Given the description of an element on the screen output the (x, y) to click on. 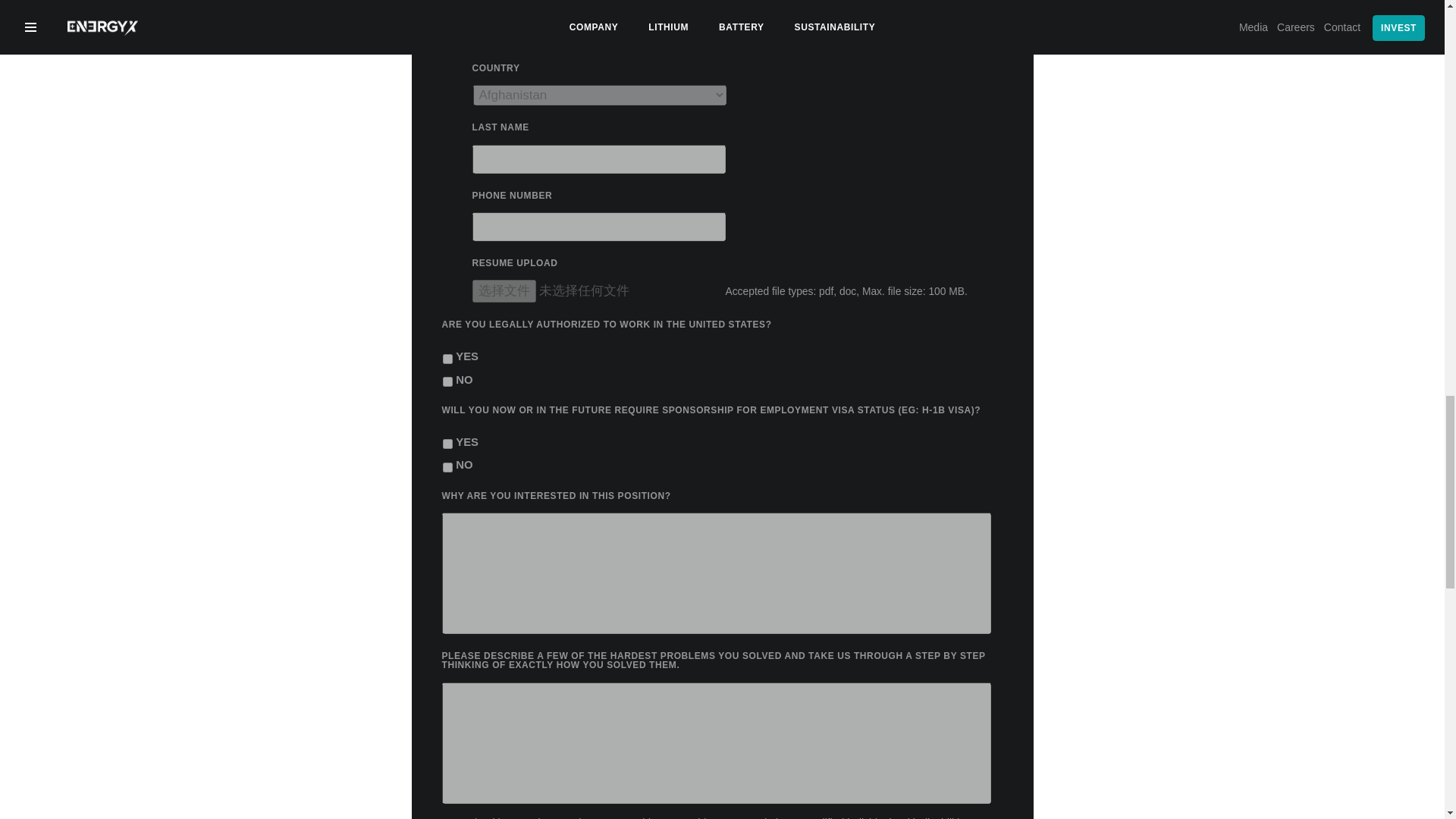
No (447, 381)
No (447, 467)
Yes (447, 358)
Yes (447, 443)
